Given the description of an element on the screen output the (x, y) to click on. 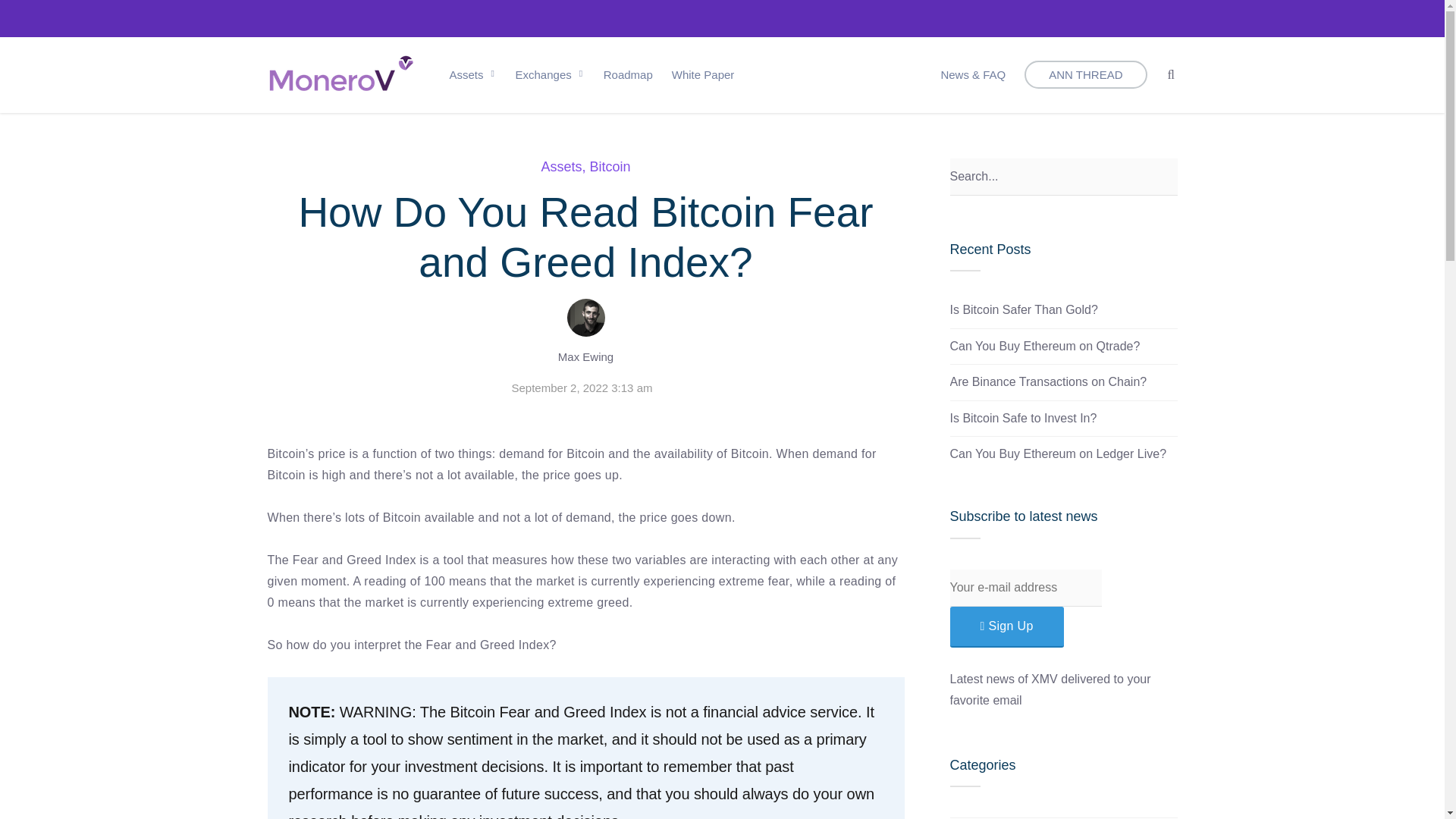
View all posts by Max Ewing (585, 356)
ANN THREAD (1086, 74)
Can You Buy Ethereum on Qtrade? (1044, 345)
Search... (1062, 176)
Exchanges (550, 74)
Assets (967, 818)
Is Bitcoin Safer Than Gold? (1023, 309)
Search... (1062, 176)
Is Bitcoin Safe to Invest In? (1022, 418)
Assets (560, 166)
